Given the description of an element on the screen output the (x, y) to click on. 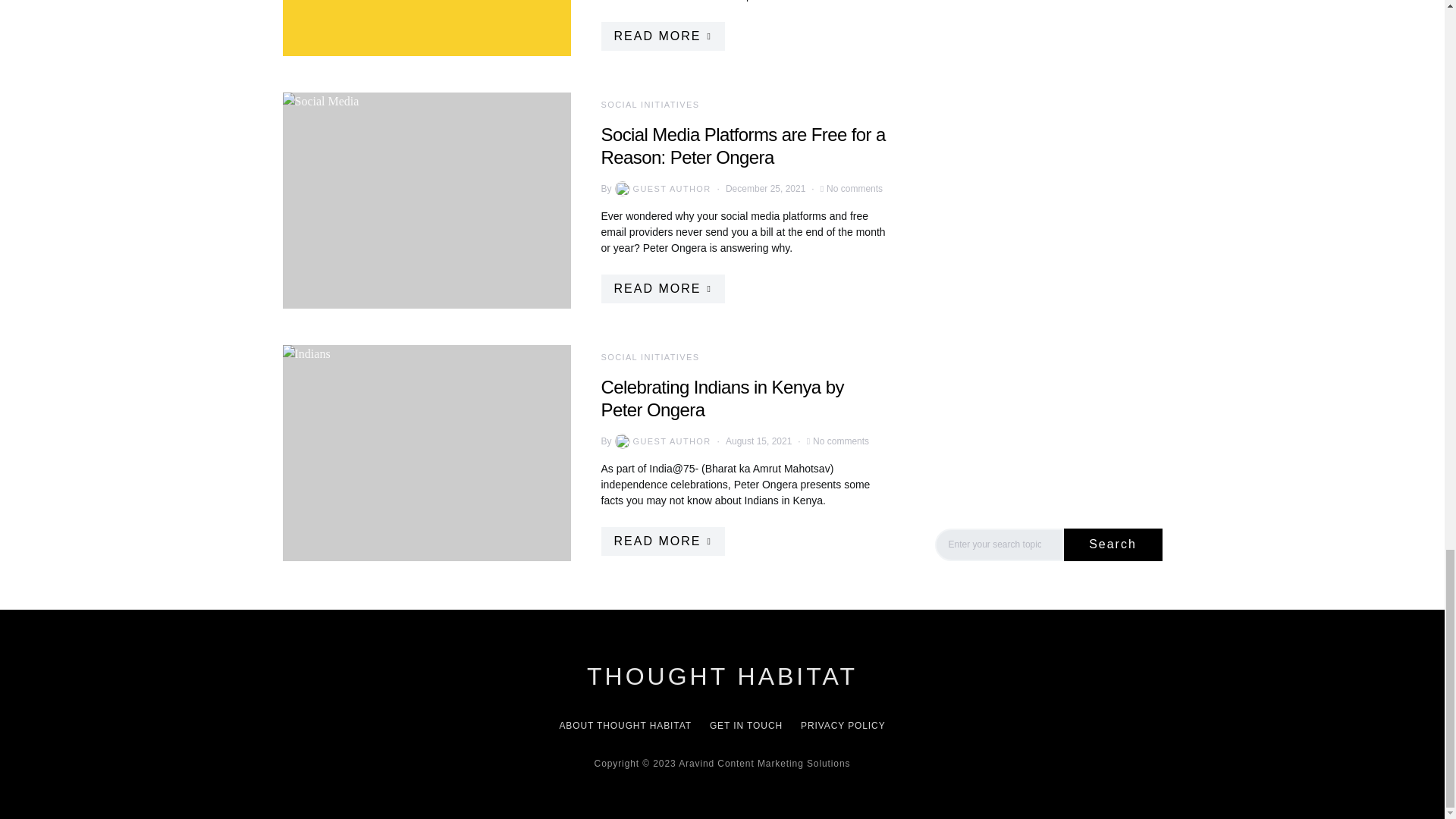
View all posts by Guest Author (661, 188)
View all posts by Guest Author (661, 441)
